Given the description of an element on the screen output the (x, y) to click on. 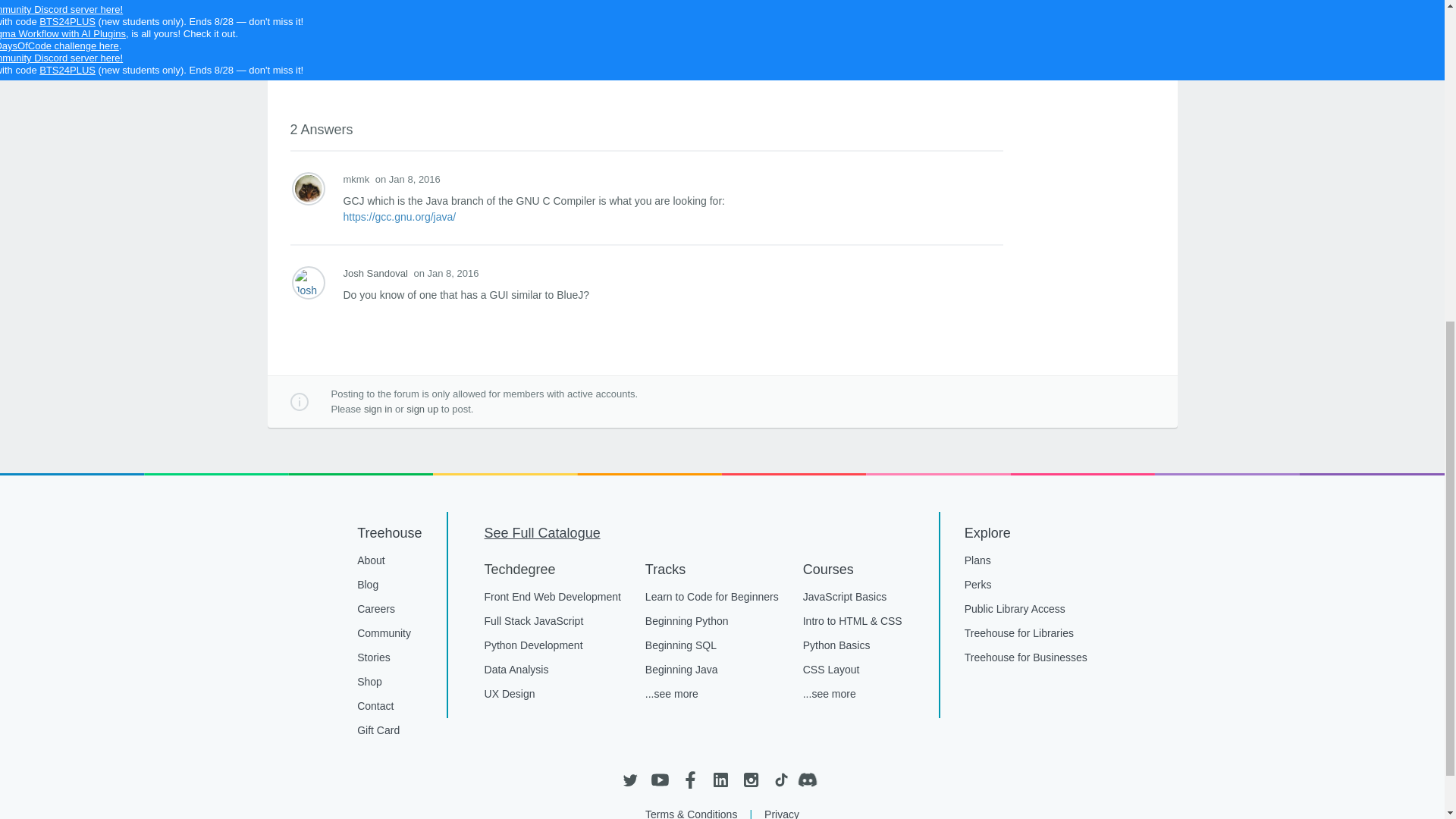
LinkedIn (719, 779)
Discord (810, 779)
LinkedIn (719, 779)
Facebook (690, 779)
Facebook (690, 779)
YouTube (659, 779)
Twitter (628, 779)
TikTok (780, 779)
Instagram (749, 779)
January 8, 2016 at 3:46am  (446, 273)
